Given the description of an element on the screen output the (x, y) to click on. 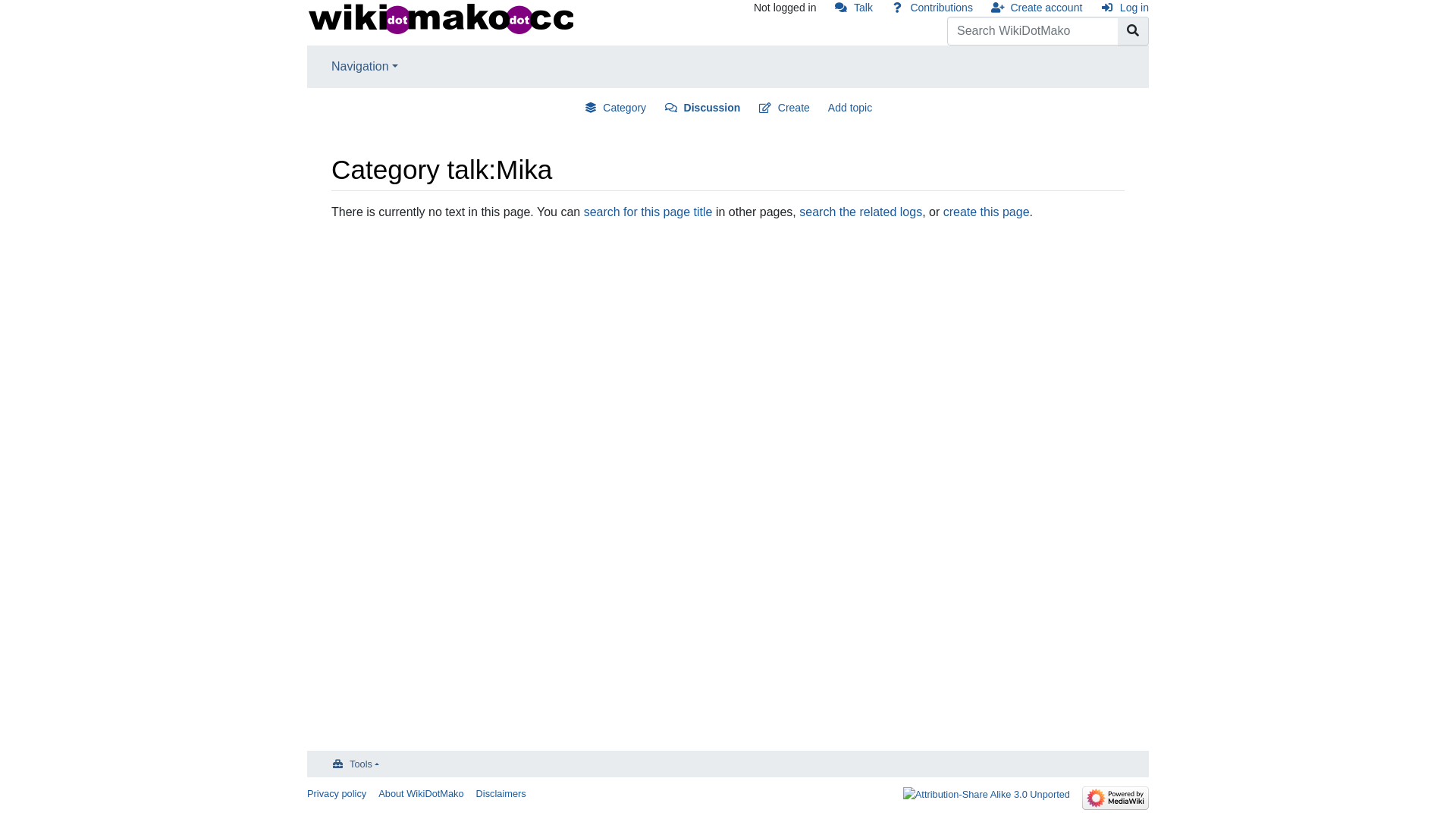
Talk Element type: text (853, 7)
Discussion Element type: text (702, 108)
Create Element type: text (783, 108)
Search WikiDotMako [f] Element type: hover (1032, 30)
Contributions Element type: text (931, 7)
Category Element type: text (614, 108)
Privacy policy Element type: text (336, 793)
create this page Element type: text (986, 211)
Add topic Element type: text (850, 107)
Disclaimers Element type: text (501, 793)
Tools Element type: text (355, 763)
Log in Element type: text (1124, 7)
Go Element type: text (1132, 30)
Go to a page with this exact name if it exists Element type: hover (1132, 30)
search for this page title Element type: text (647, 211)
Visit the main page Element type: hover (440, 17)
Create account Element type: text (1036, 7)
About WikiDotMako Element type: text (420, 793)
search the related logs Element type: text (860, 211)
Navigation Element type: text (364, 66)
